Given the description of an element on the screen output the (x, y) to click on. 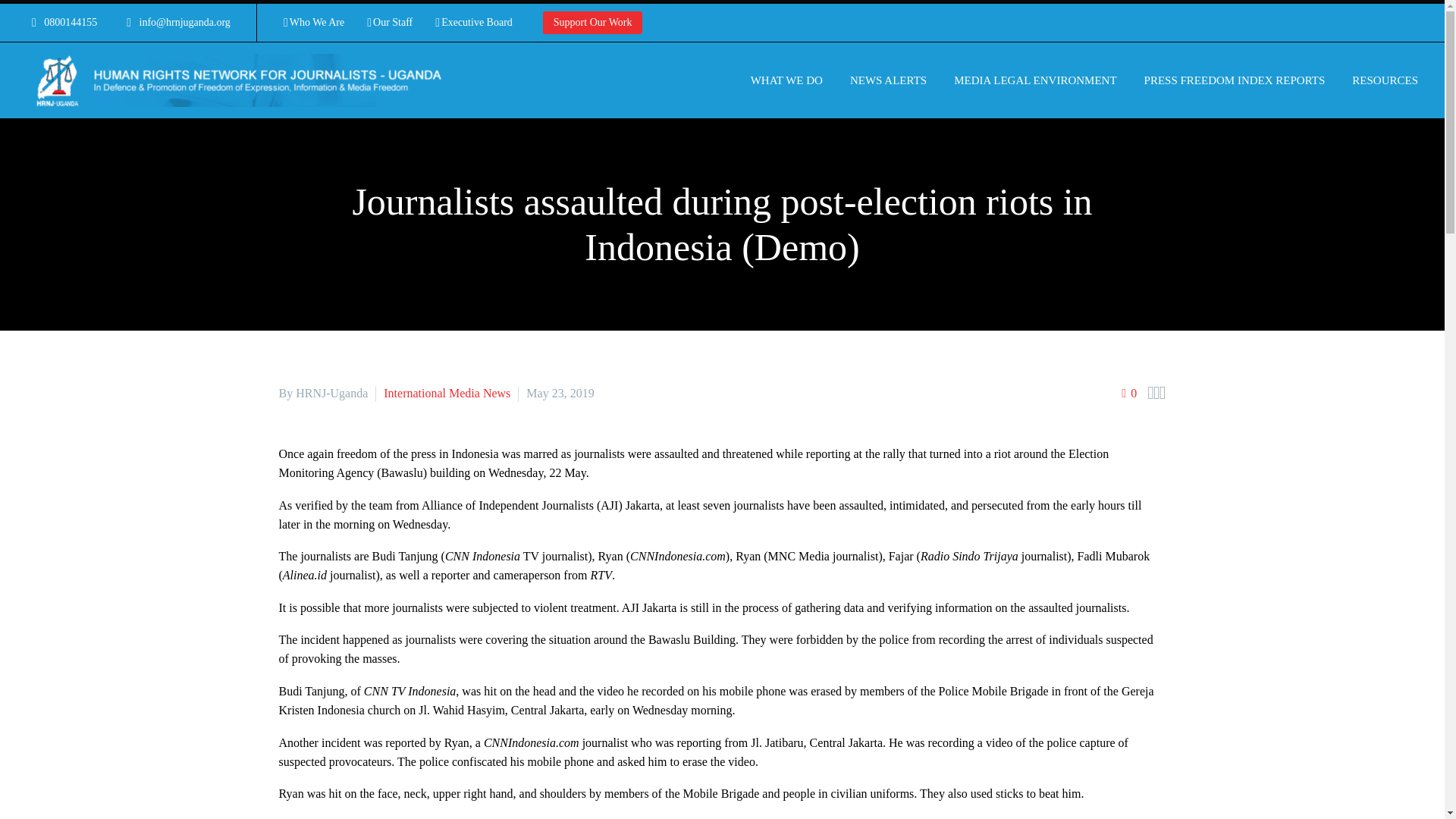
Who We Are (313, 22)
Support Our Work (593, 22)
NEWS ALERTS (887, 80)
International Media News (447, 392)
Our Staff (389, 22)
MEDIA LEGAL ENVIRONMENT (1034, 80)
WHAT WE DO (786, 80)
RESOURCES (1384, 80)
Executive Board (473, 22)
0800144155 (70, 21)
